Given the description of an element on the screen output the (x, y) to click on. 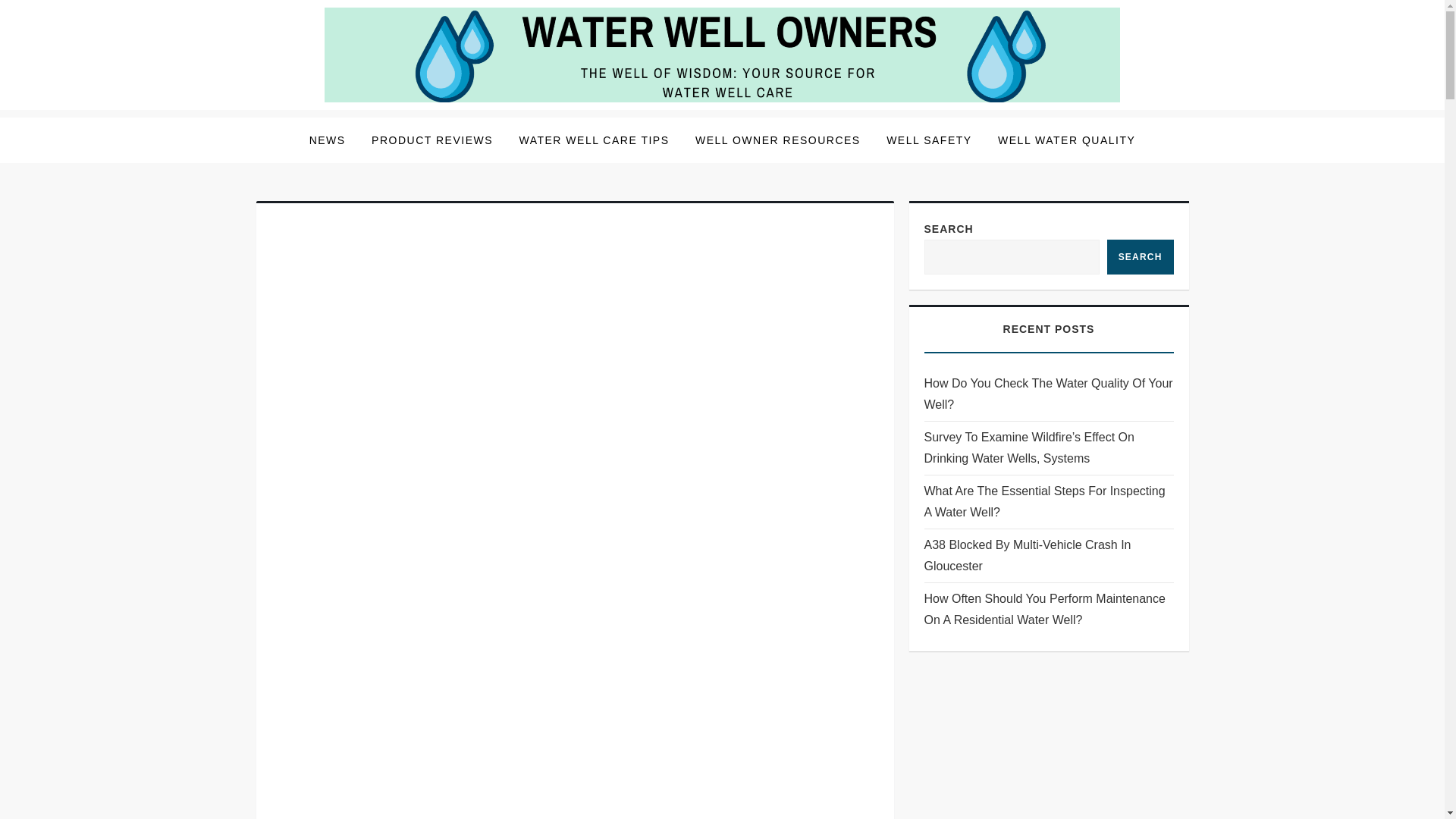
WATER WELL CARE TIPS (592, 139)
PRODUCT REVIEWS (431, 139)
Water Well Owners (385, 120)
NEWS (327, 139)
WELL SAFETY (928, 139)
WELL WATER QUALITY (1067, 139)
WELL OWNER RESOURCES (778, 139)
